Given the description of an element on the screen output the (x, y) to click on. 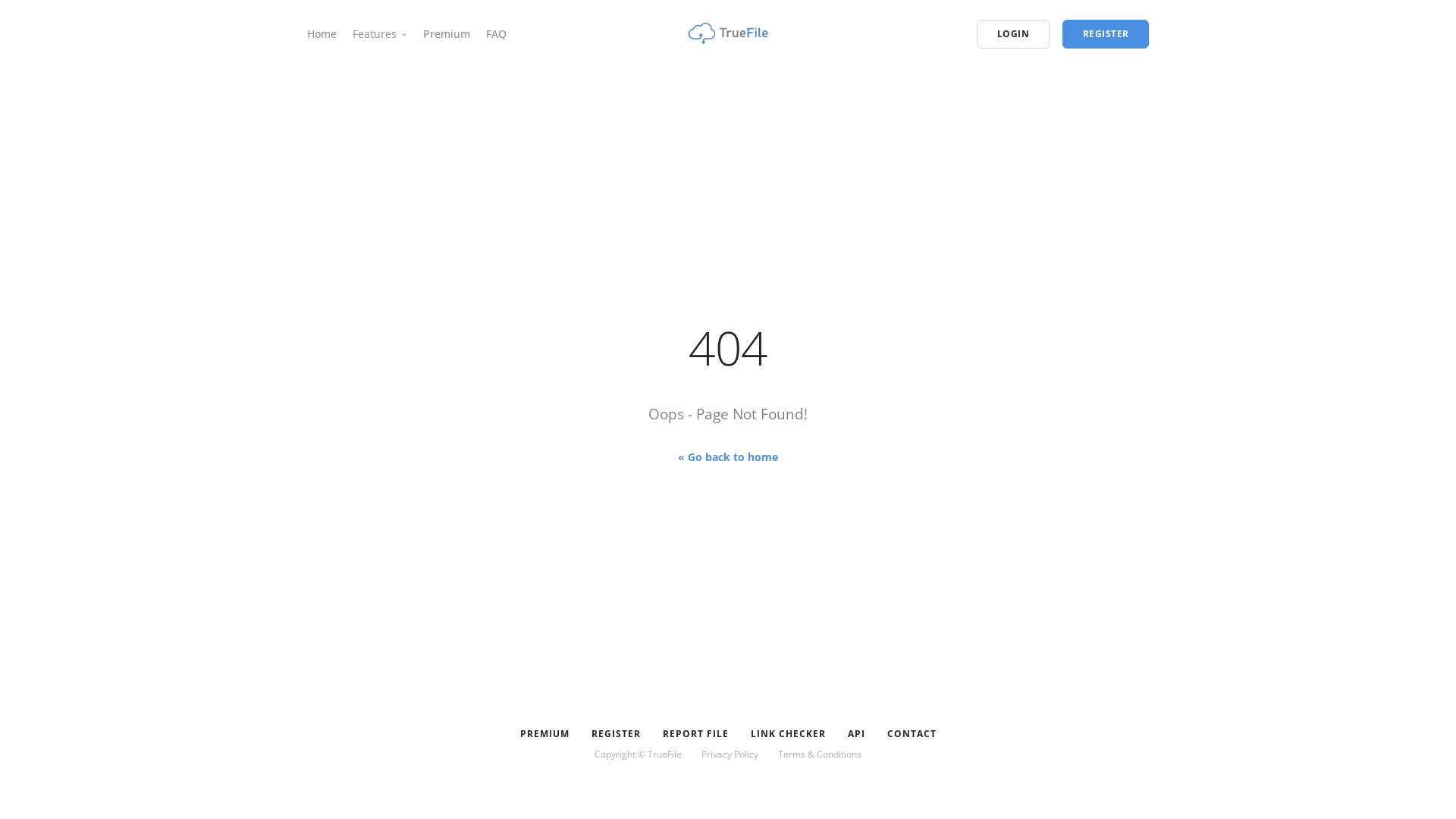
Home Element type: text (321, 33)
Privacy Policy Element type: text (729, 753)
API Element type: text (855, 733)
FAQ Element type: text (496, 33)
PREMIUM Element type: text (544, 733)
LOGIN Element type: text (1012, 33)
CONTACT Element type: text (911, 733)
REGISTER Element type: text (615, 733)
LINK CHECKER Element type: text (787, 733)
REPORT FILE Element type: text (695, 733)
Premium Element type: text (446, 33)
REGISTER Element type: text (1104, 33)
Terms & Conditions Element type: text (819, 753)
